Given the description of an element on the screen output the (x, y) to click on. 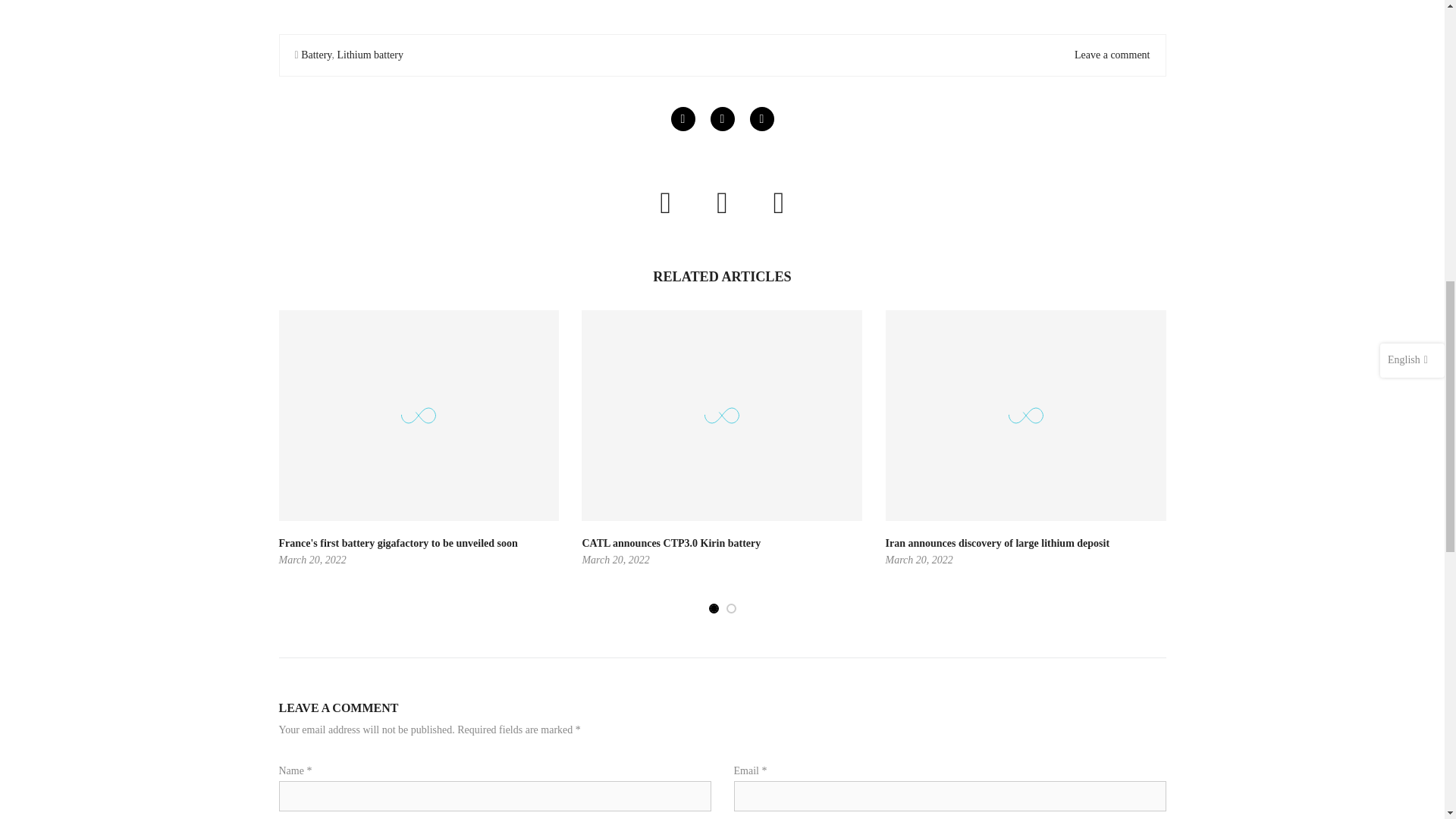
CATL announces CTP3.0 Kirin battery (670, 542)
Lithium battery (369, 54)
Battery (316, 54)
France's first battery gigafactory to be unveiled soon (398, 542)
Iran announces discovery of large lithium deposit (997, 542)
Leave a comment (1112, 54)
